Given the description of an element on the screen output the (x, y) to click on. 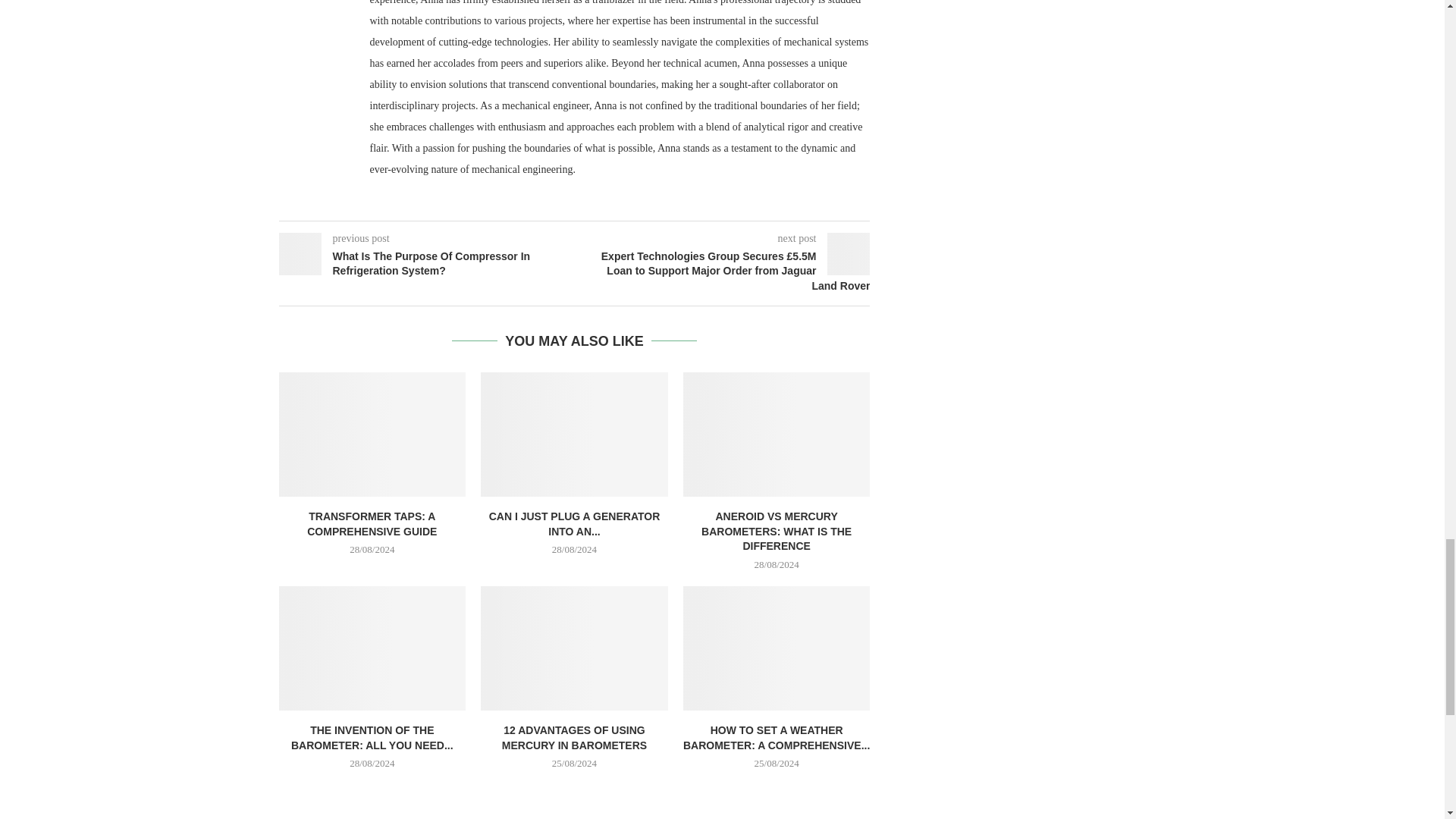
Transformer Taps: A Comprehensive Guide (372, 434)
How to Set a Weather Barometer: A Comprehensive Guide (776, 648)
The Invention of the Barometer: All You Need to Know (372, 648)
12 Advantages of Using Mercury in Barometers (574, 648)
Aneroid vs Mercury Barometers: What is the difference (776, 434)
